Given the description of an element on the screen output the (x, y) to click on. 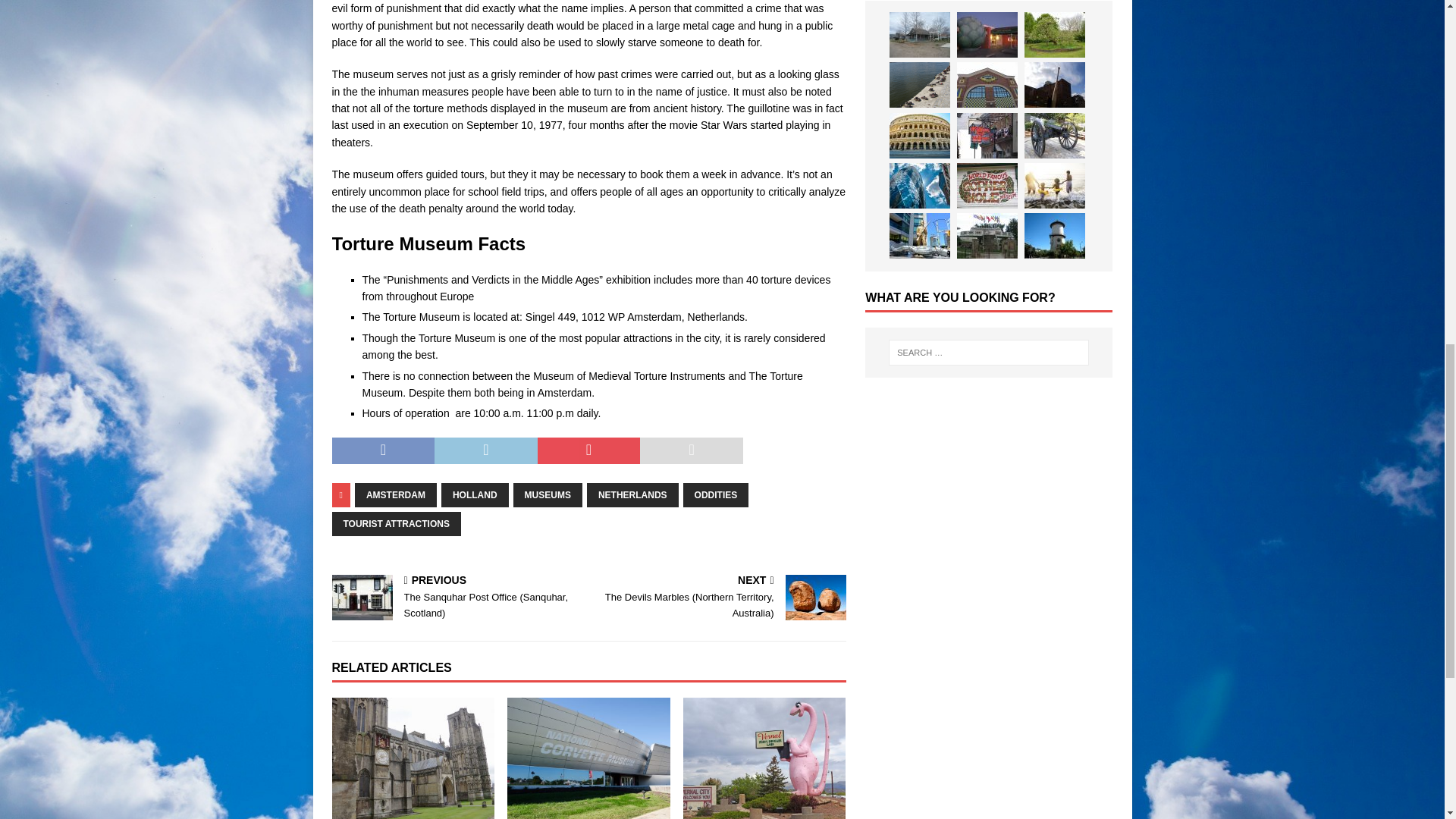
TOURIST ATTRACTIONS (396, 523)
MUSEUMS (547, 494)
ODDITIES (715, 494)
HOLLAND (474, 494)
NETHERLANDS (632, 494)
AMSTERDAM (395, 494)
